Given the description of an element on the screen output the (x, y) to click on. 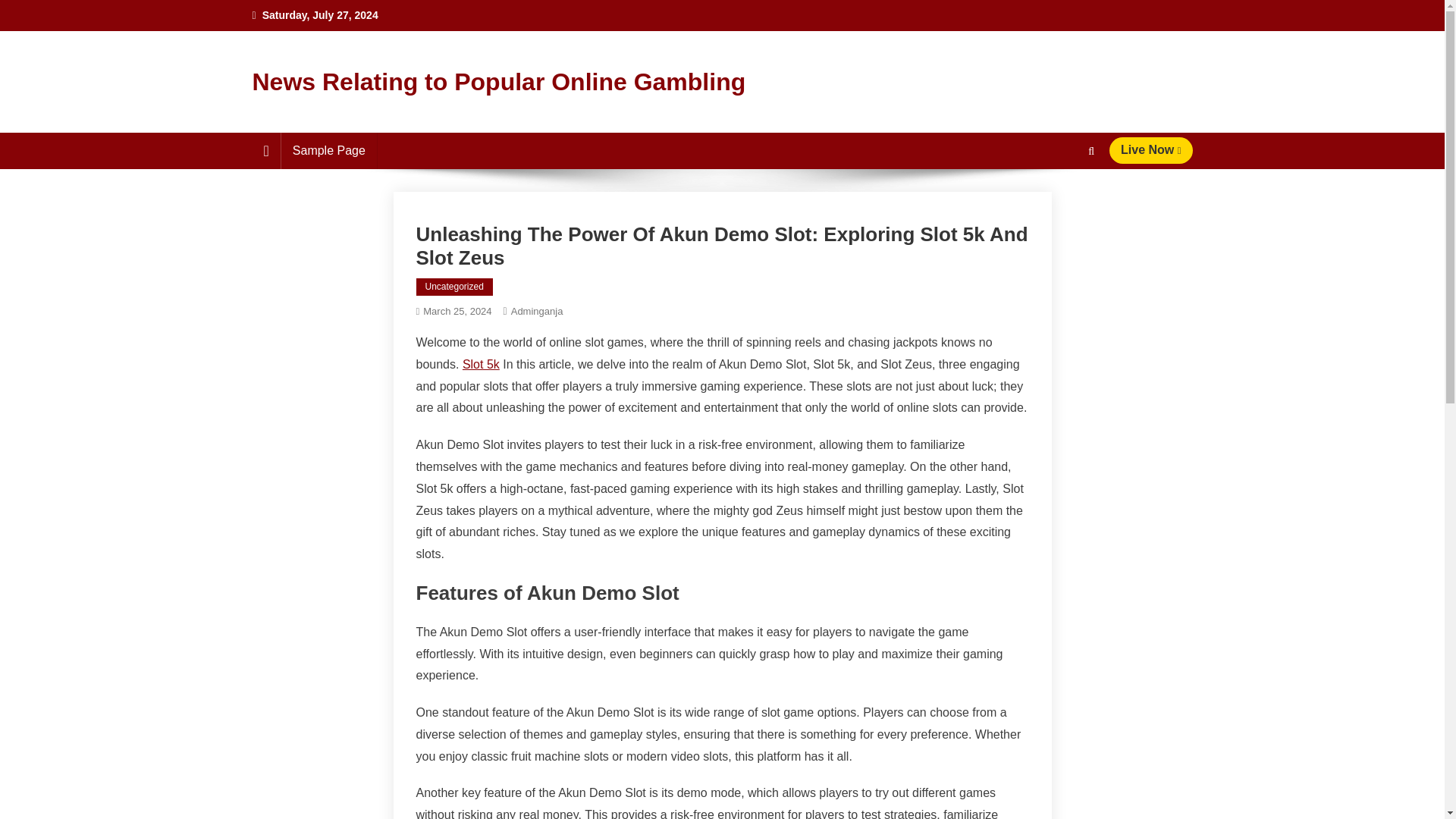
Search (1062, 206)
Sample Page (329, 150)
Live Now (1150, 150)
March 25, 2024 (457, 310)
Uncategorized (453, 287)
News Relating to Popular Online Gambling (498, 81)
Adminganja (537, 310)
Slot 5k (481, 364)
